Given the description of an element on the screen output the (x, y) to click on. 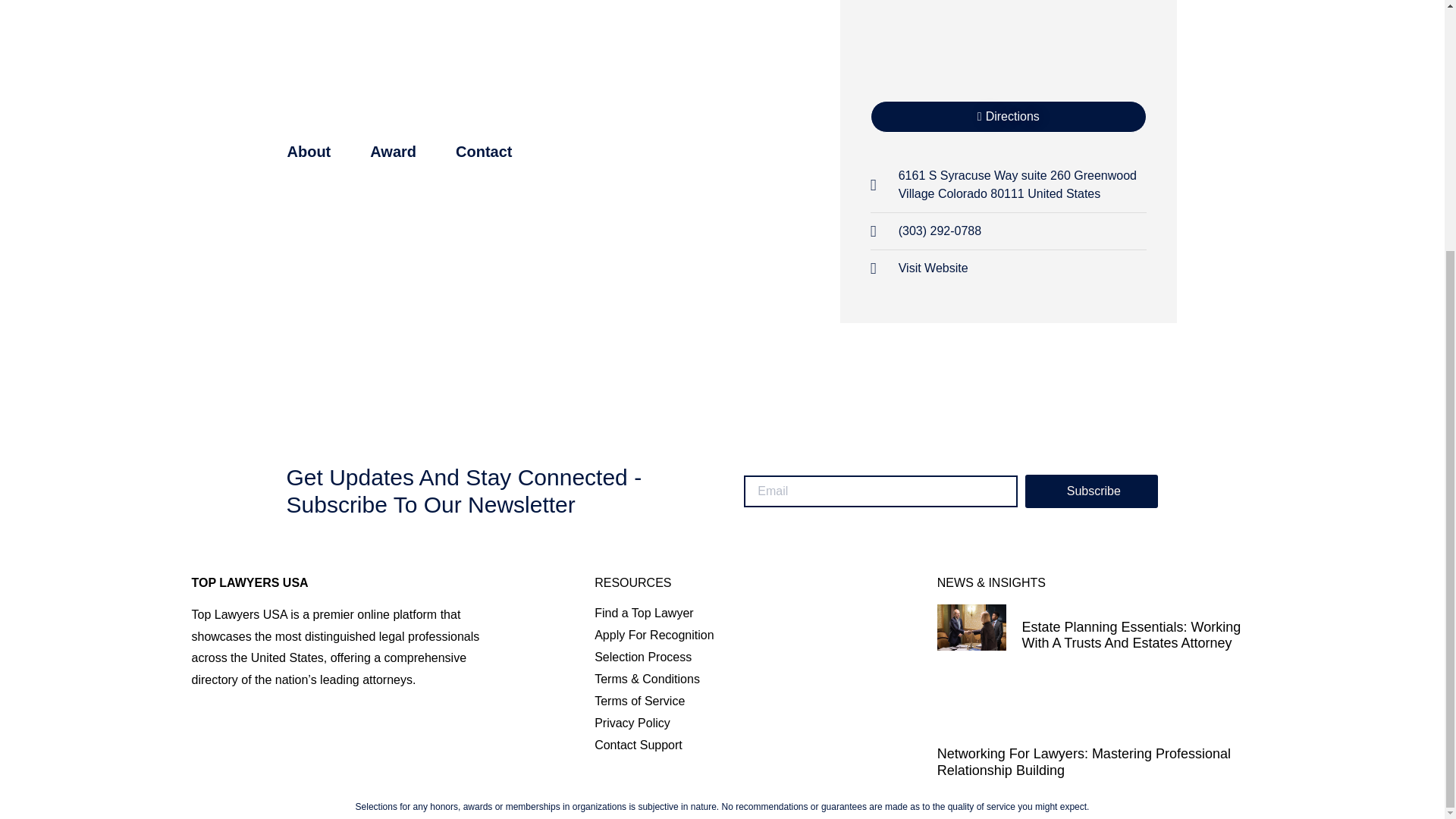
Visit Website (919, 268)
Directions (1008, 116)
